Given the description of an element on the screen output the (x, y) to click on. 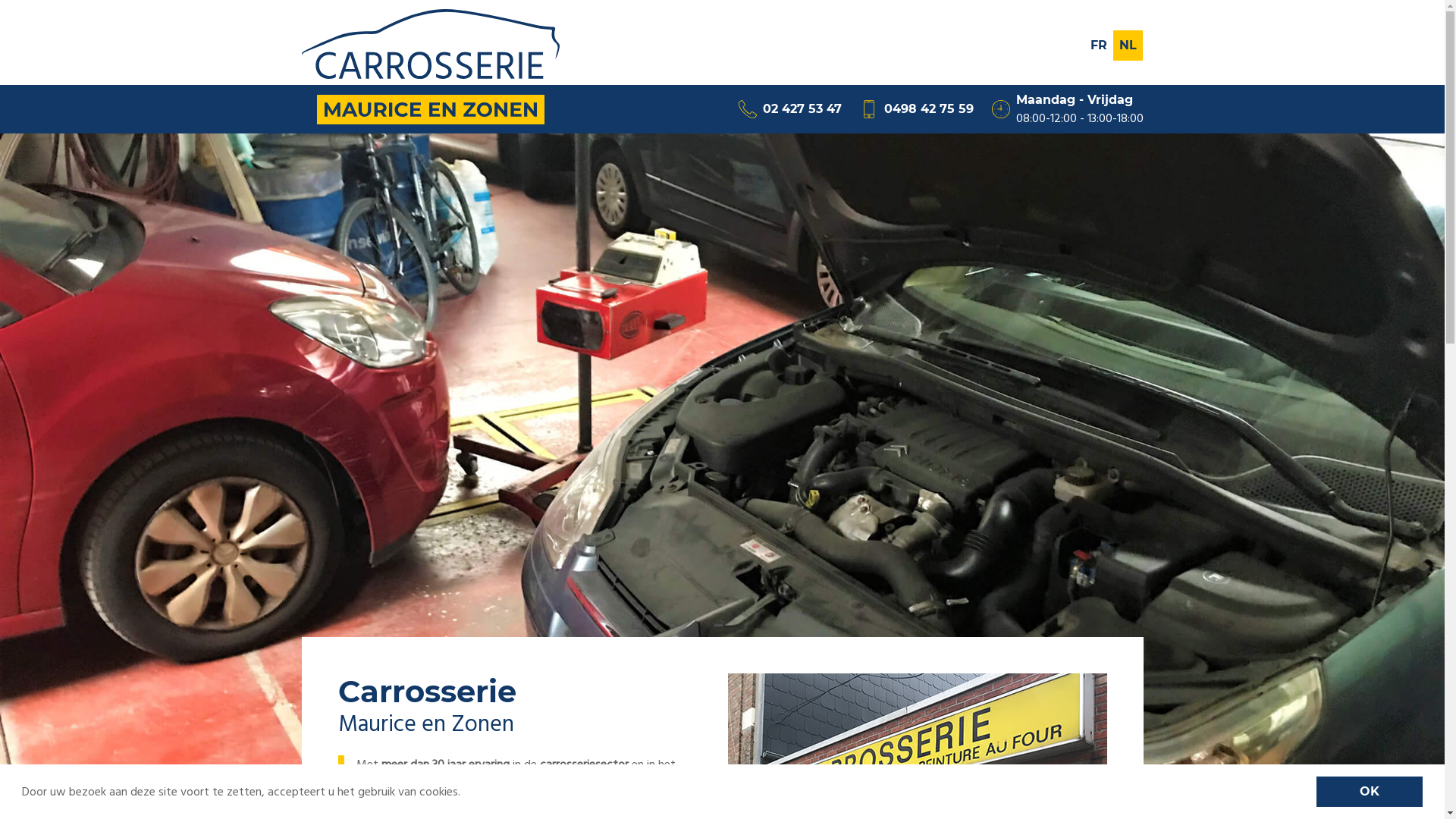
0498 42 75 59 Element type: text (916, 109)
02 427 53 47 Element type: text (789, 109)
NL Element type: text (1127, 45)
OK Element type: text (1369, 791)
FR Element type: text (1098, 45)
